Given the description of an element on the screen output the (x, y) to click on. 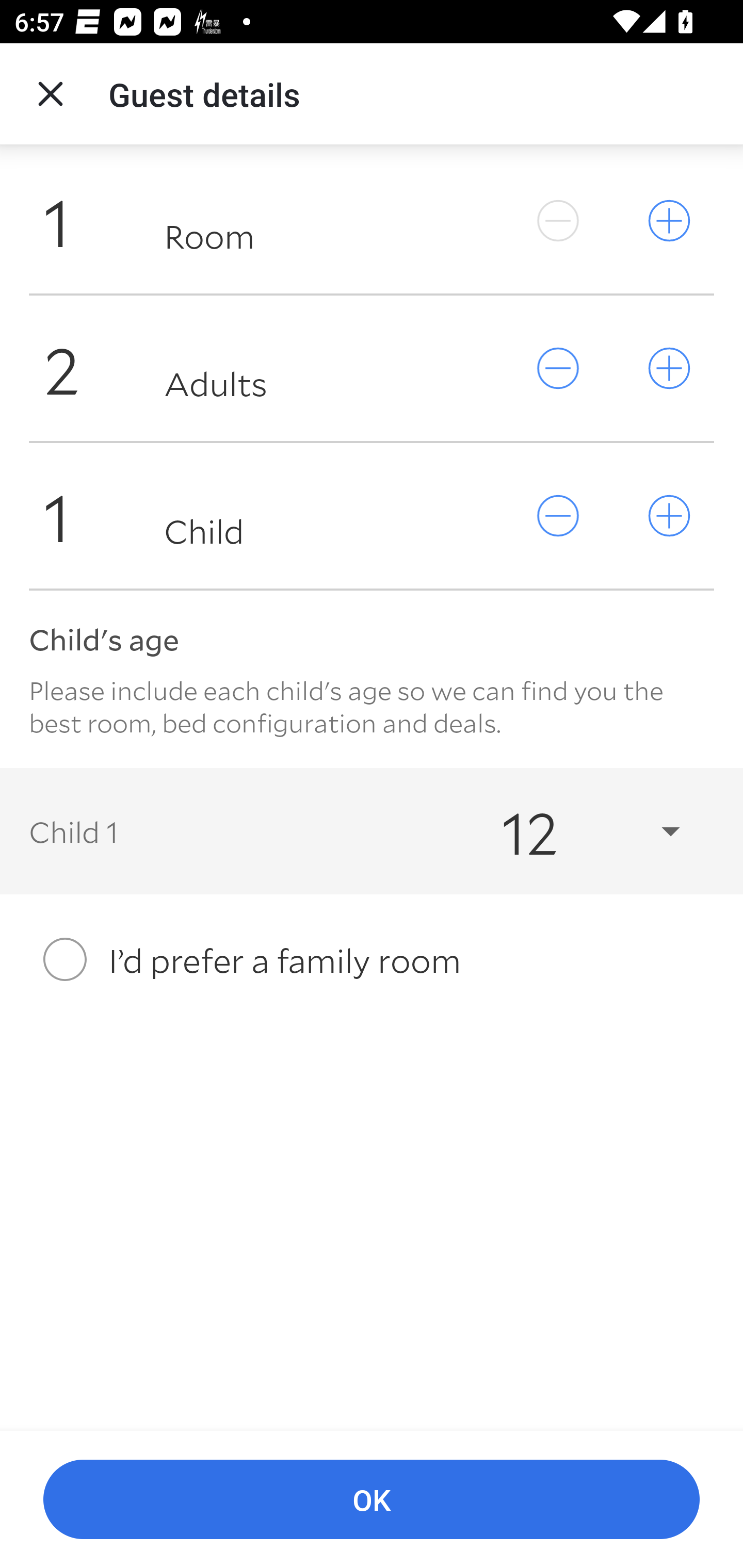
12 (573, 830)
I’d prefer a family room (371, 959)
OK (371, 1499)
